Given the description of an element on the screen output the (x, y) to click on. 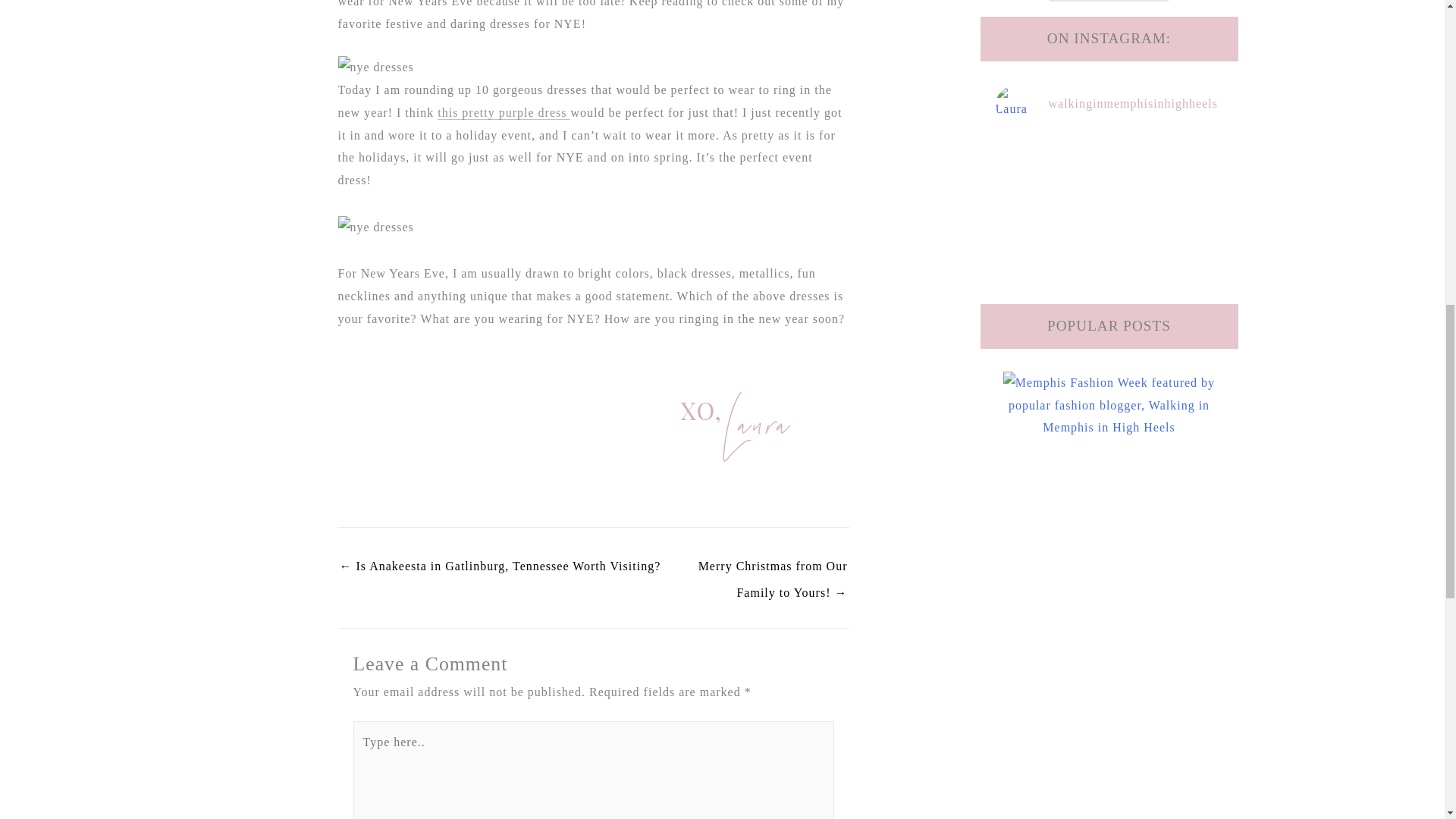
SUBSCRIBE (1108, 0)
walkinginmemphisinhighheels (1108, 104)
SUBSCRIBE (1108, 0)
this pretty purple dress (504, 112)
